Given the description of an element on the screen output the (x, y) to click on. 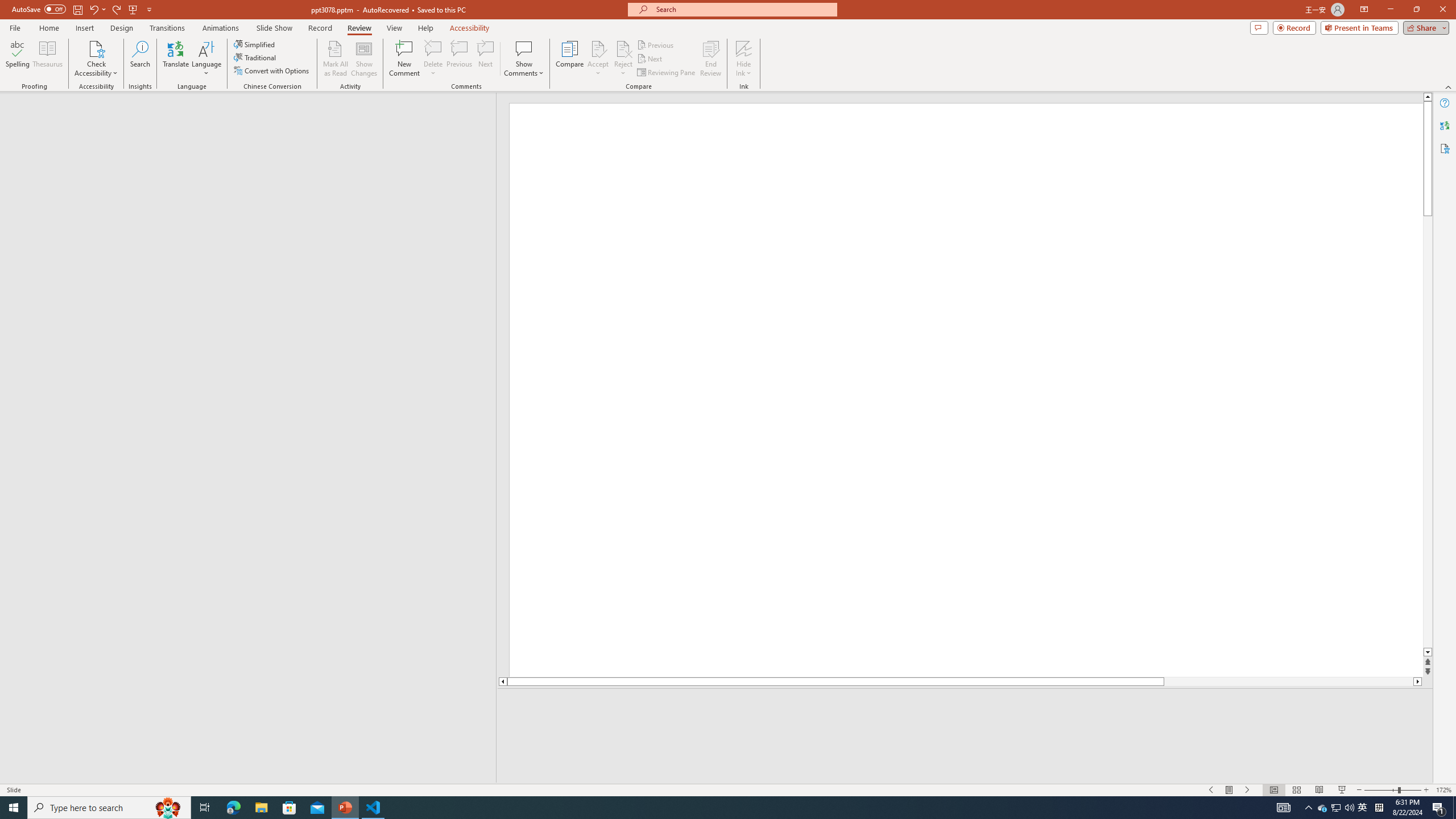
Reject (622, 58)
New Comment (403, 58)
Language (206, 58)
Compare (569, 58)
